Given the description of an element on the screen output the (x, y) to click on. 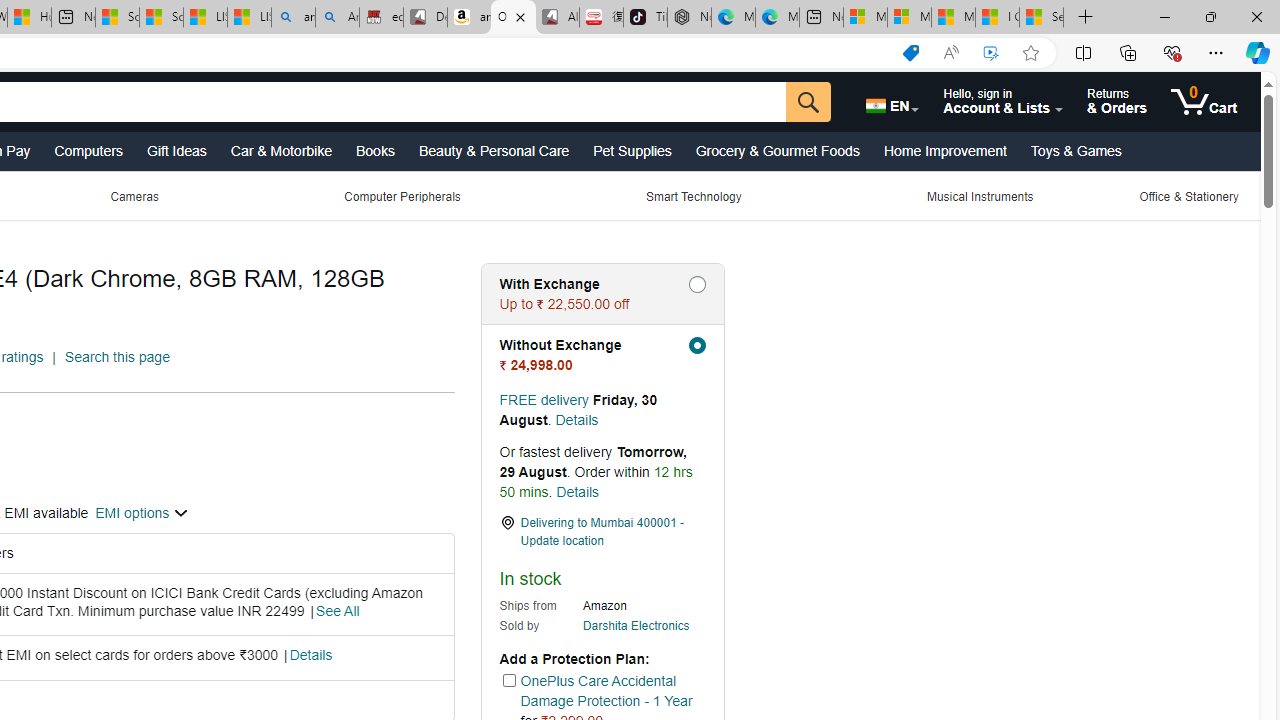
OnePlus Care Accidental Damage Protection - 1 Year (605, 691)
Microsoft account | Privacy (909, 17)
